Given the description of an element on the screen output the (x, y) to click on. 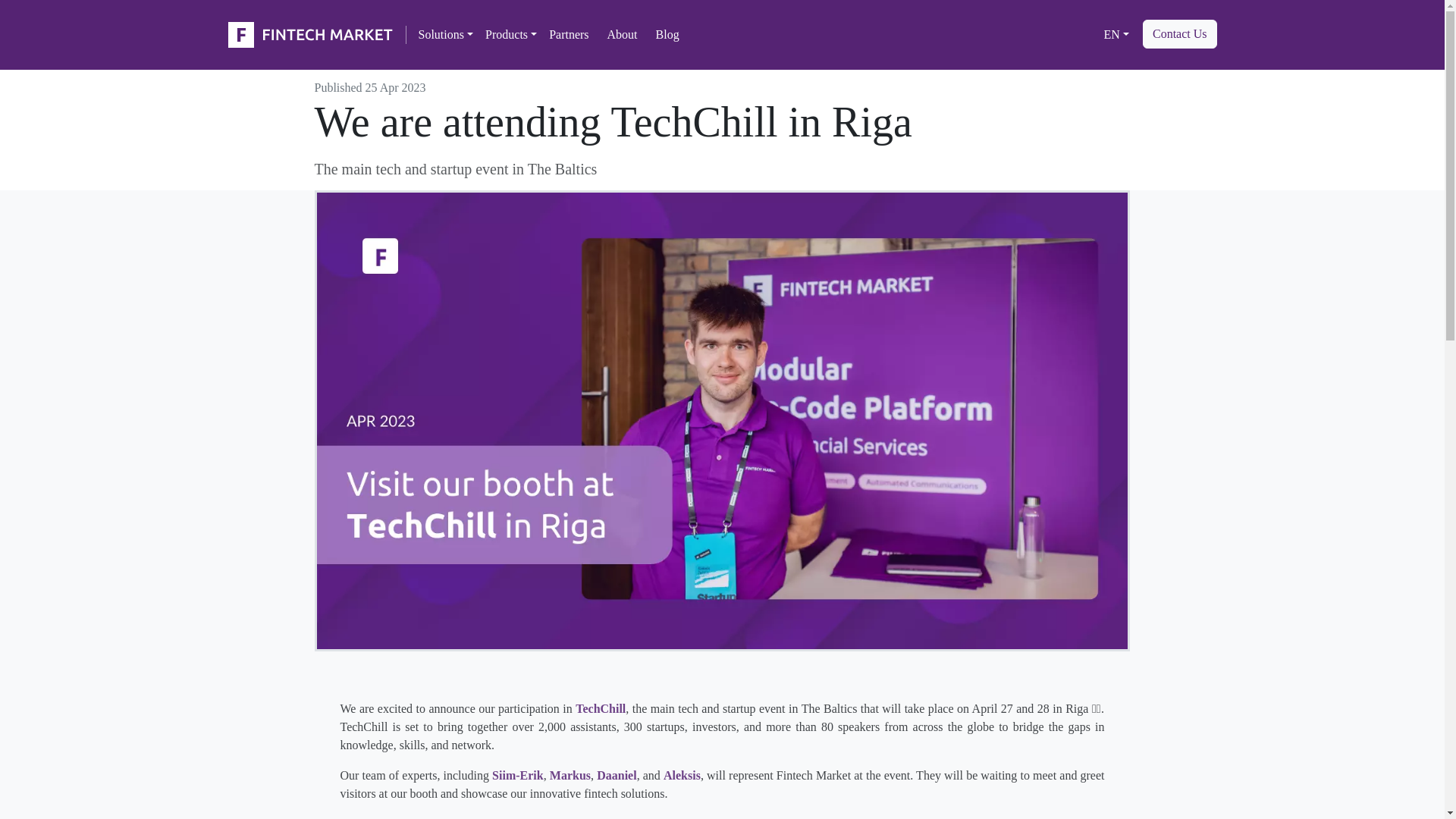
Products (511, 34)
Siim-Erik (517, 775)
Daaniel (616, 775)
Blog (667, 34)
EN (1116, 34)
TechChill (600, 707)
About (622, 34)
Aleksis (681, 775)
Contact Us (1179, 33)
Solutions (446, 34)
Markus (570, 775)
Fintech Market (312, 34)
Partners (568, 34)
